Given the description of an element on the screen output the (x, y) to click on. 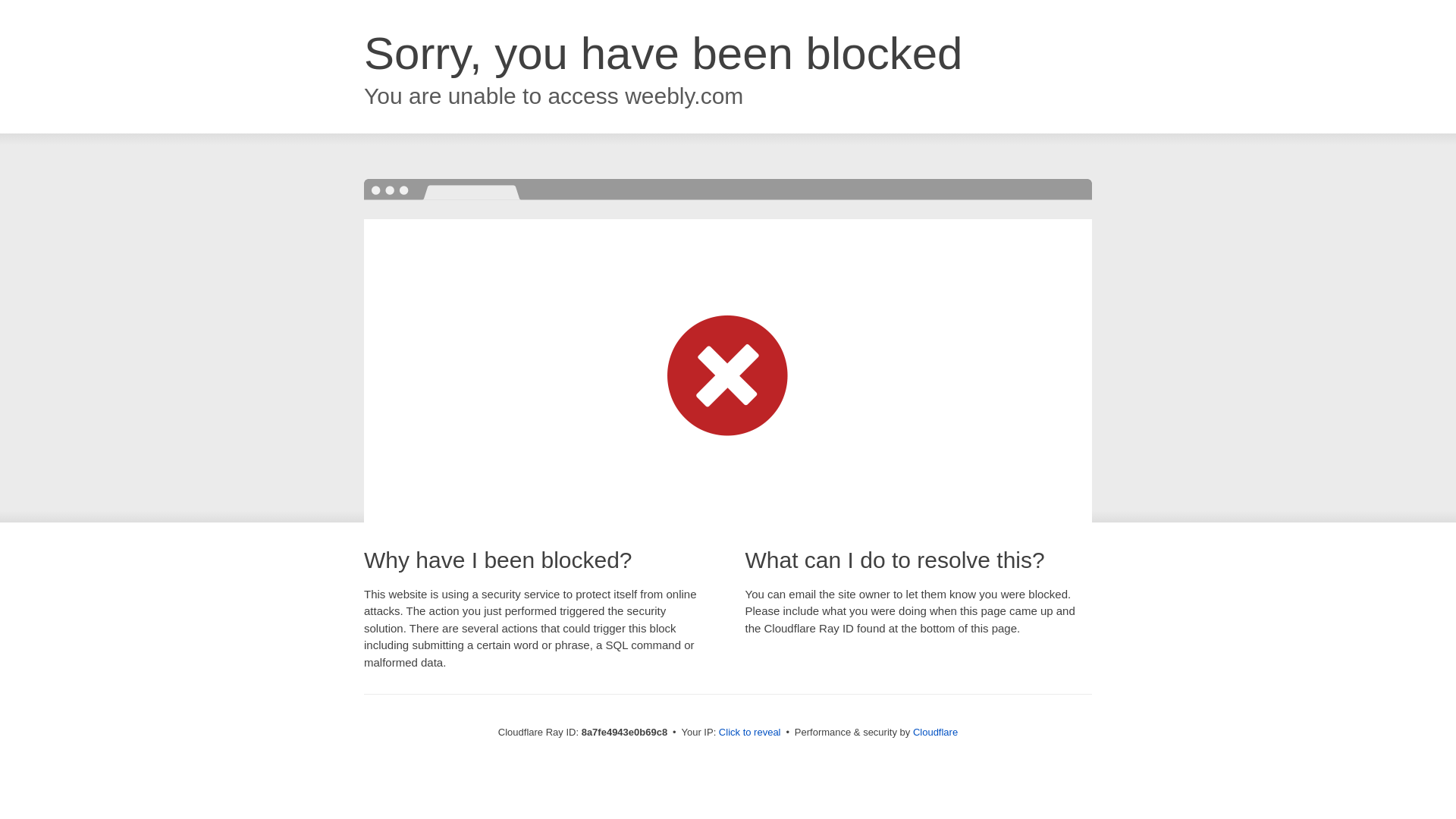
Click to reveal (749, 732)
Cloudflare (935, 731)
